Given the description of an element on the screen output the (x, y) to click on. 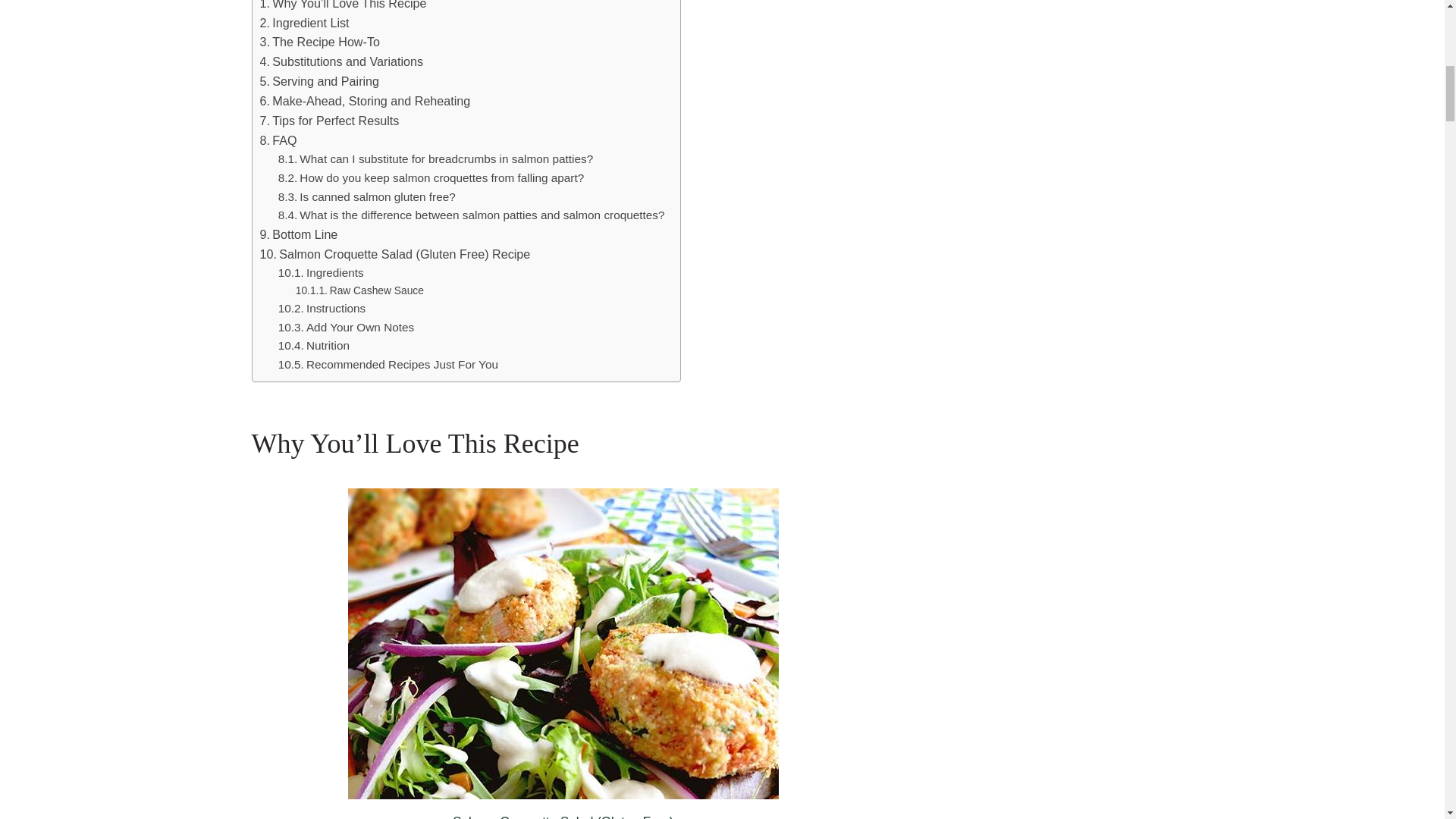
Is canned salmon gluten free? (366, 197)
Ingredients   (324, 272)
Instructions  (323, 308)
Is canned salmon gluten free? (366, 197)
How do you keep salmon croquettes from falling apart? (431, 178)
Raw Cashew Sauce (359, 290)
Substitutions and Variations (341, 62)
FAQ (278, 140)
Bottom Line (298, 234)
How do you keep salmon croquettes from falling apart? (431, 178)
Bottom Line (298, 234)
The Recipe How-To (318, 42)
Substitutions and Variations (341, 62)
FAQ (278, 140)
